Given the description of an element on the screen output the (x, y) to click on. 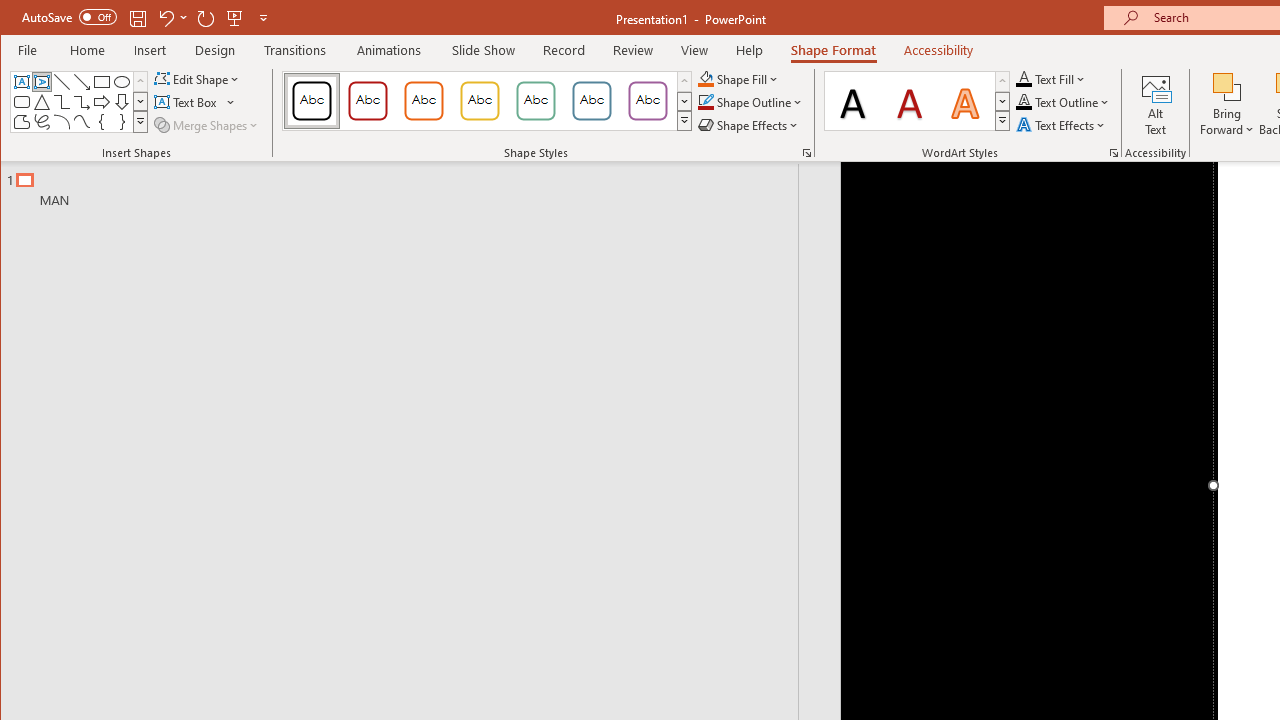
Colored Outline - Blue-Gray, Accent 5 (591, 100)
Text Fill (1051, 78)
